Given the description of an element on the screen output the (x, y) to click on. 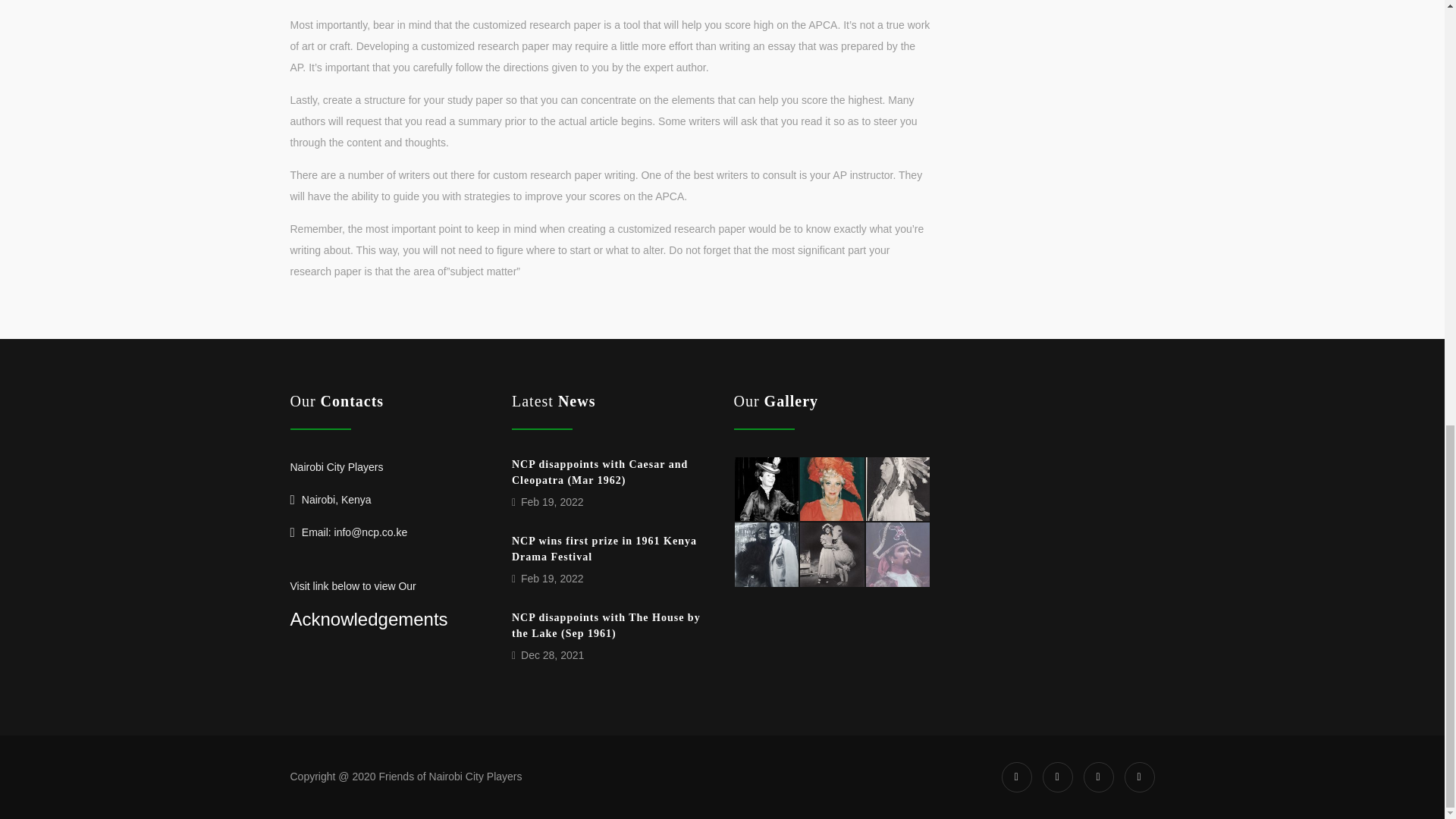
NCP wins first prize in 1961 Kenya Drama Festival (604, 548)
Acknowledgements (367, 619)
NCP wins first prize in 1961 Kenya Drama Festival (604, 548)
